Given the description of an element on the screen output the (x, y) to click on. 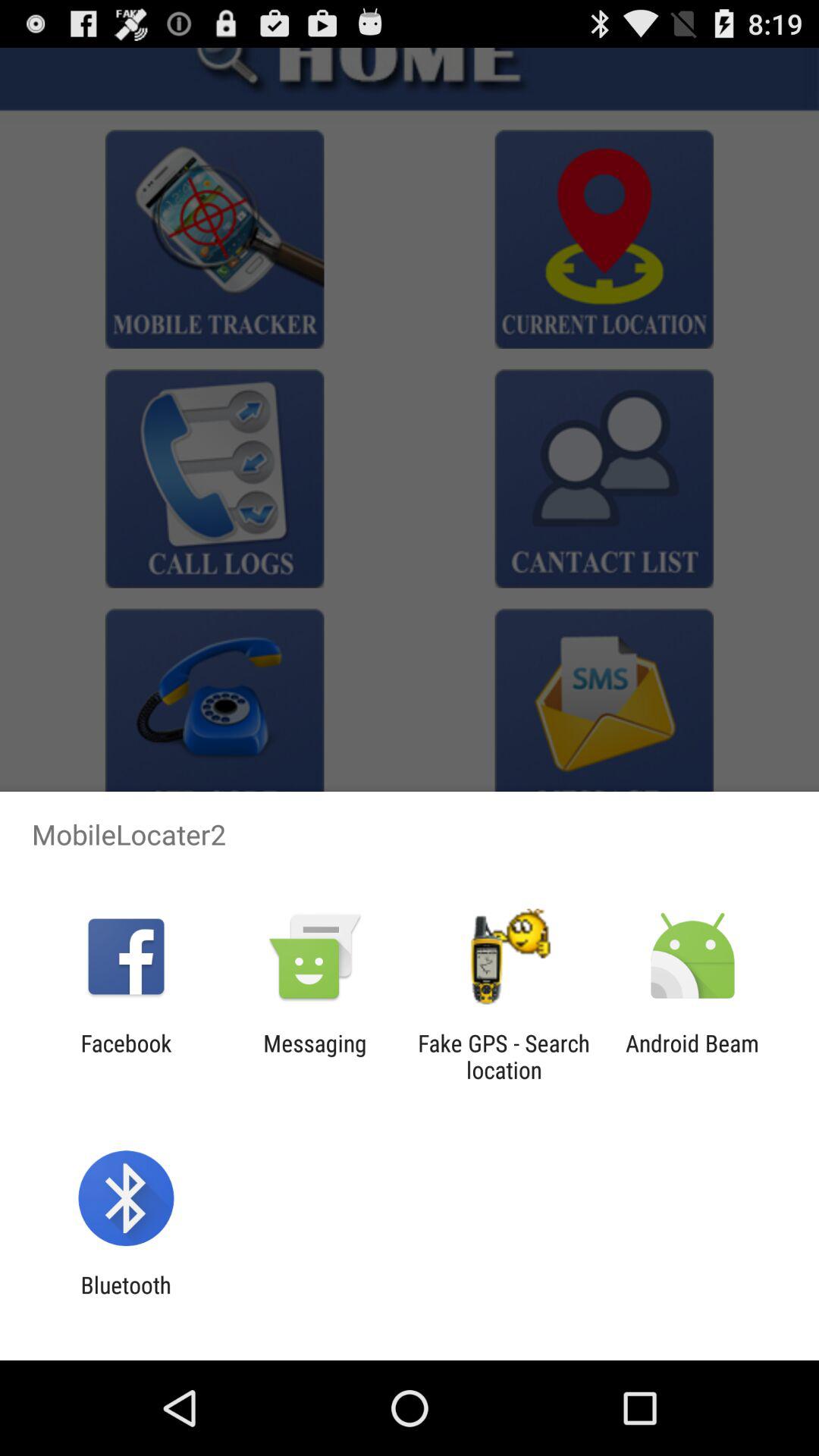
scroll to fake gps search app (503, 1056)
